Given the description of an element on the screen output the (x, y) to click on. 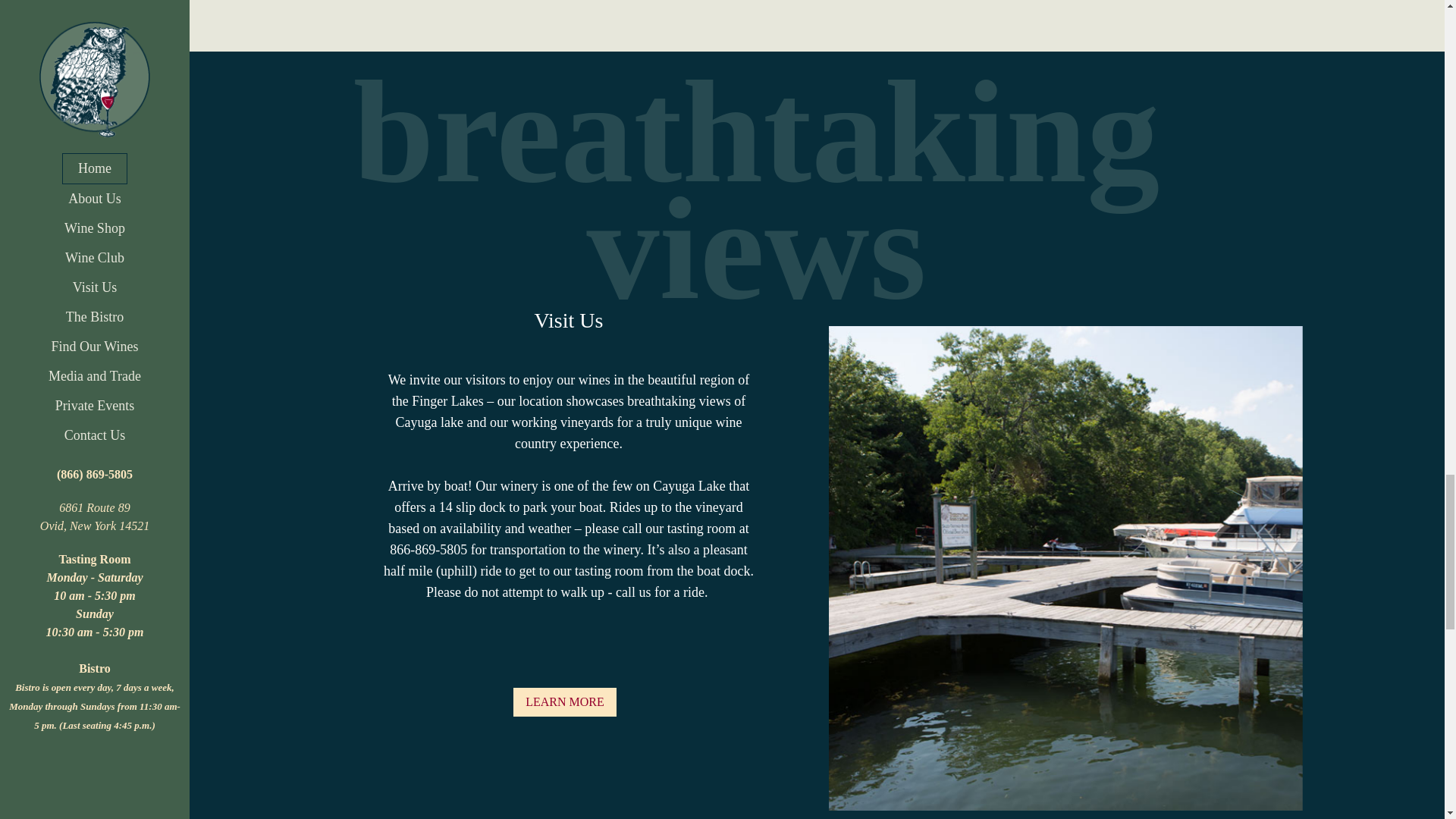
LEARN MORE (564, 701)
